Given the description of an element on the screen output the (x, y) to click on. 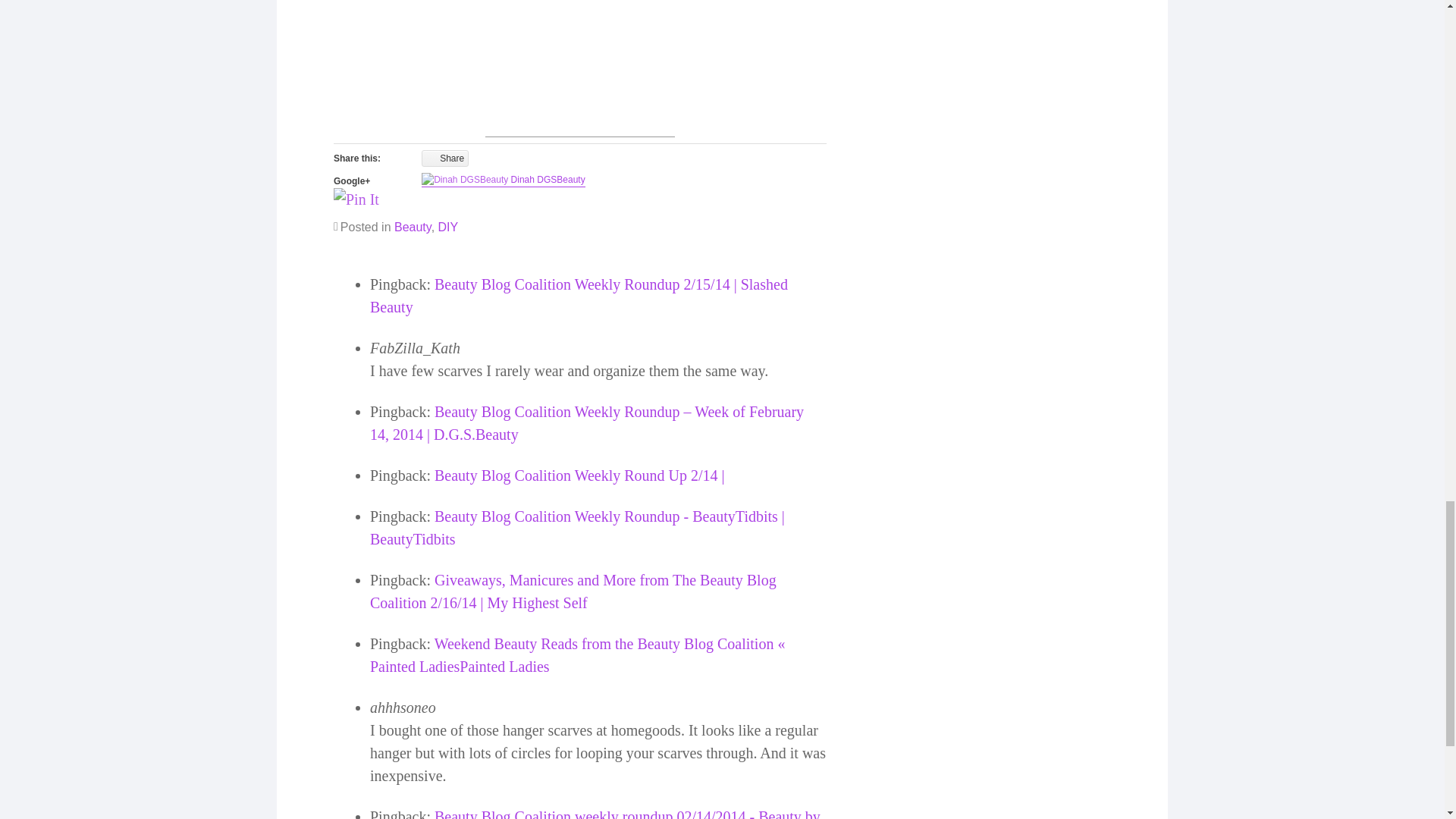
Share (445, 158)
DIY (448, 226)
Beauty (412, 226)
Pin It (355, 199)
Dinah DGSBeauty (548, 180)
